Given the description of an element on the screen output the (x, y) to click on. 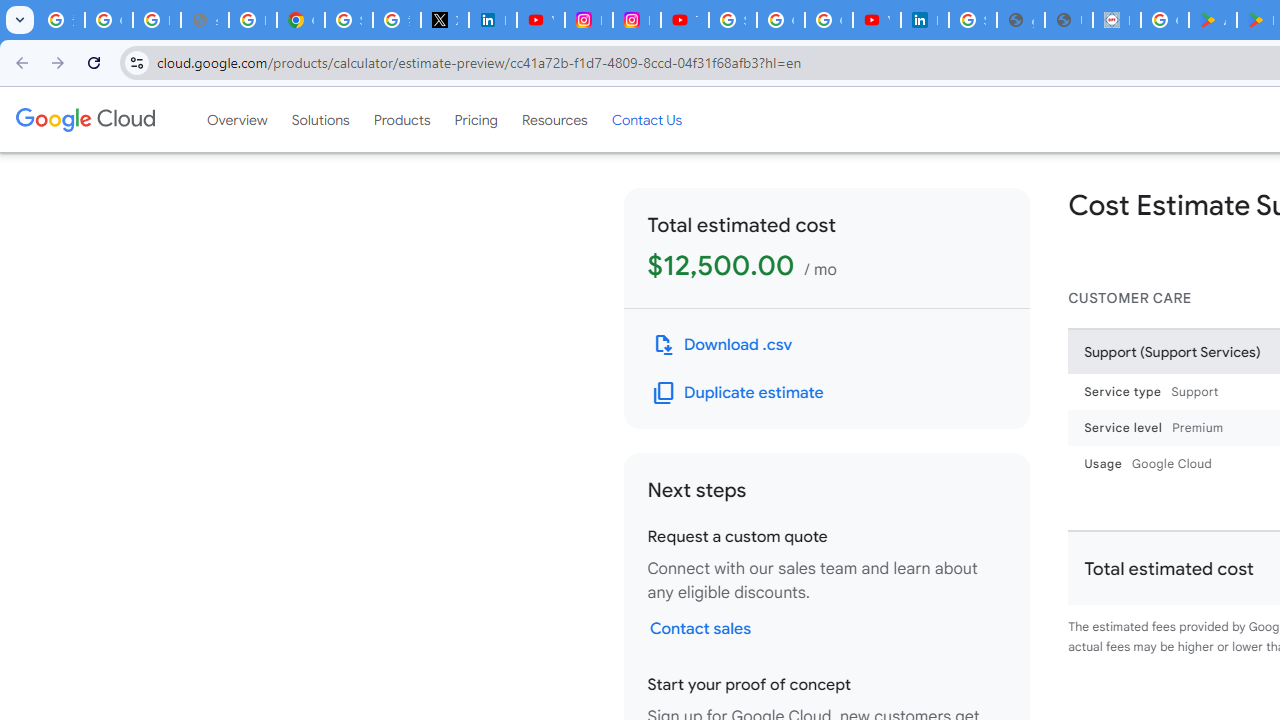
Duplicate this estimate (738, 392)
Android Apps on Google Play (1212, 20)
LinkedIn Privacy Policy (492, 20)
Privacy Help Center - Policies Help (252, 20)
Solutions (320, 119)
Sign in - Google Accounts (732, 20)
